Given the description of an element on the screen output the (x, y) to click on. 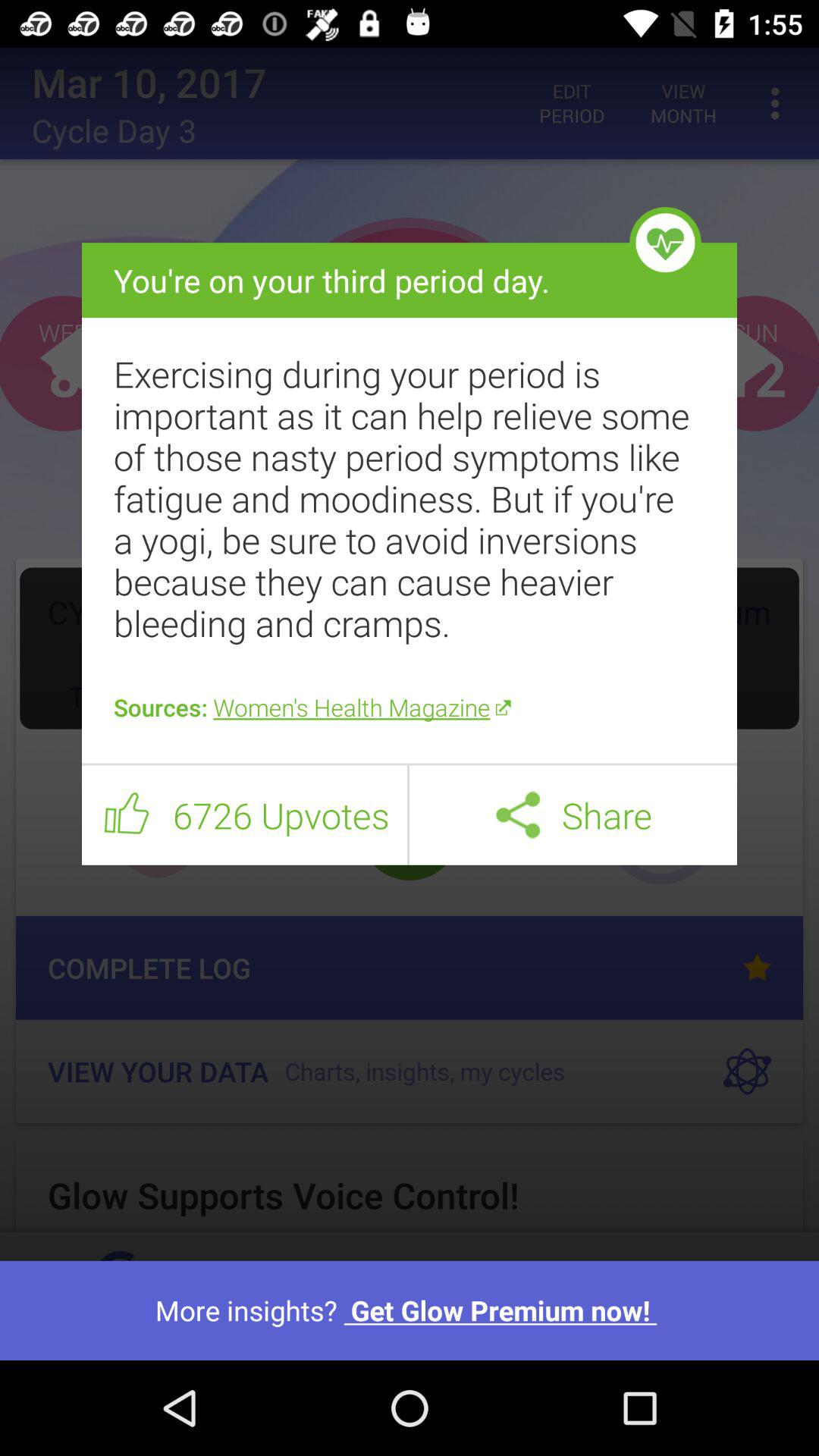
tap item above the sources women s (409, 498)
